Given the description of an element on the screen output the (x, y) to click on. 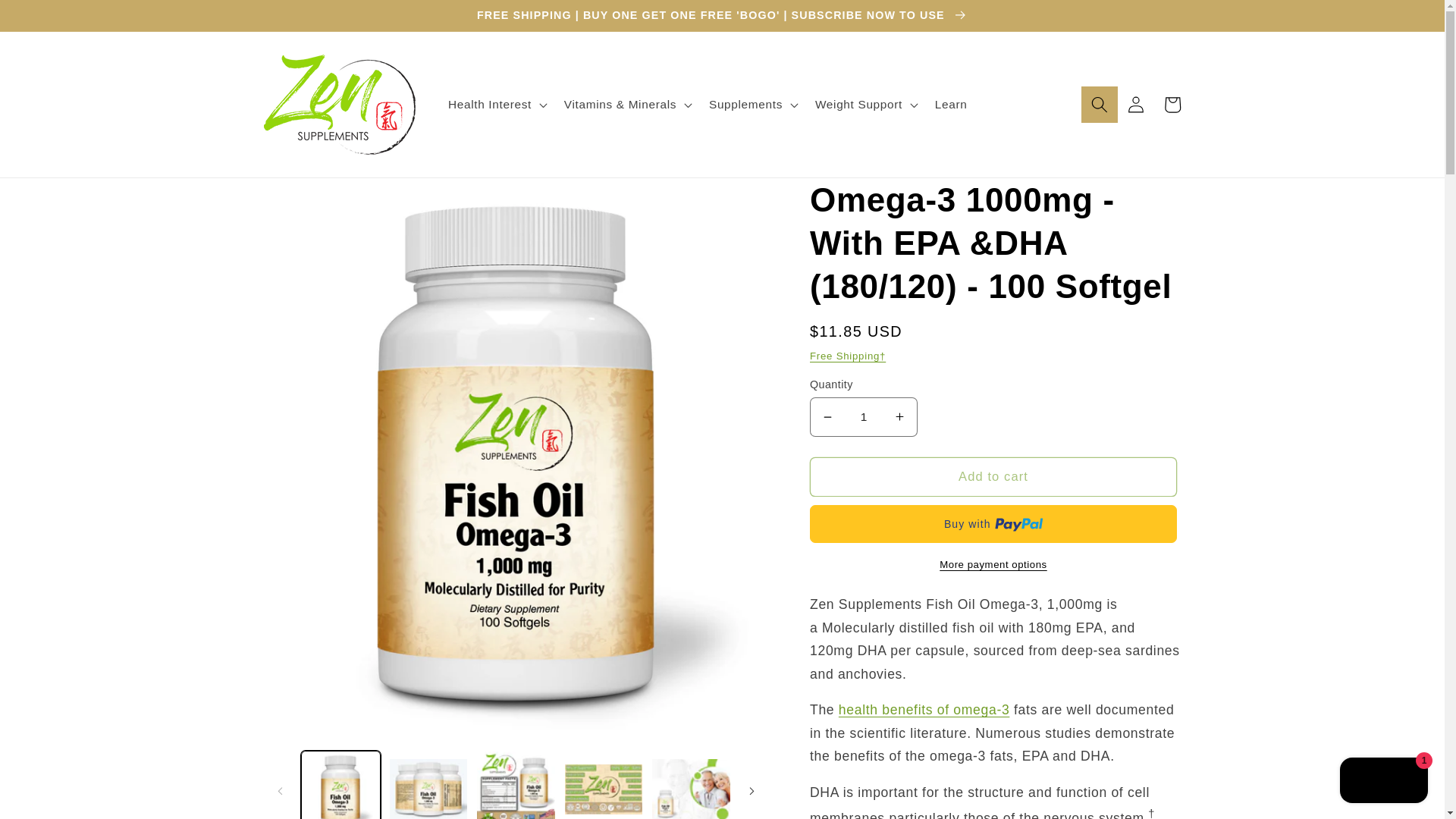
Skip to content (50, 19)
the health benefits of Omega 3 fatty acids (924, 709)
Shopify online store chat (1383, 781)
1 (863, 416)
